Given the description of an element on the screen output the (x, y) to click on. 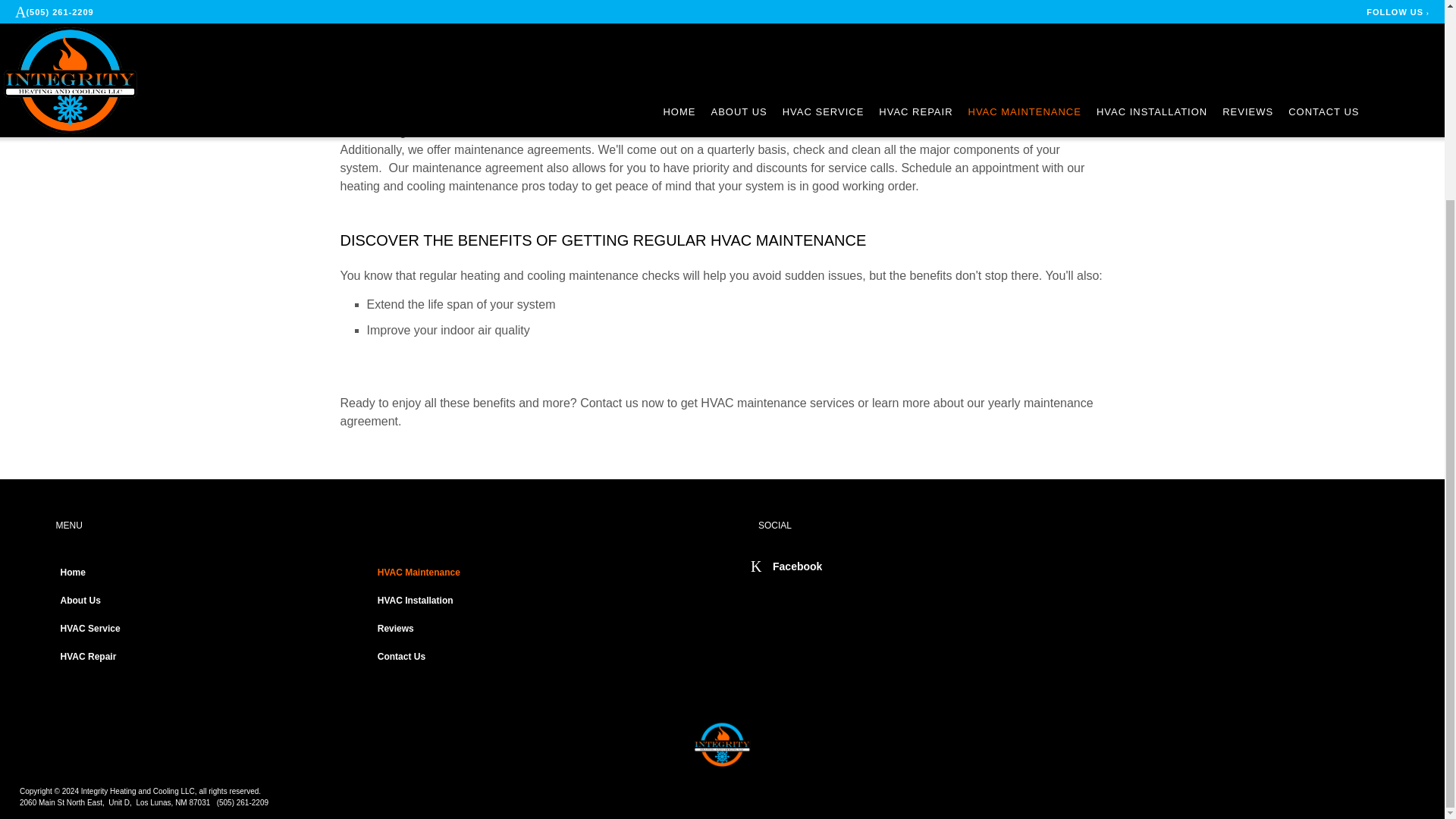
HVAC Installation (528, 602)
Home (212, 574)
Contact Us (528, 658)
About Us (212, 602)
Facebook (786, 565)
Reviews (528, 629)
HVAC Service (212, 629)
HVAC Maintenance (528, 574)
HVAC Repair (212, 658)
Integrity Heating and Cooling LLC (722, 744)
